Given the description of an element on the screen output the (x, y) to click on. 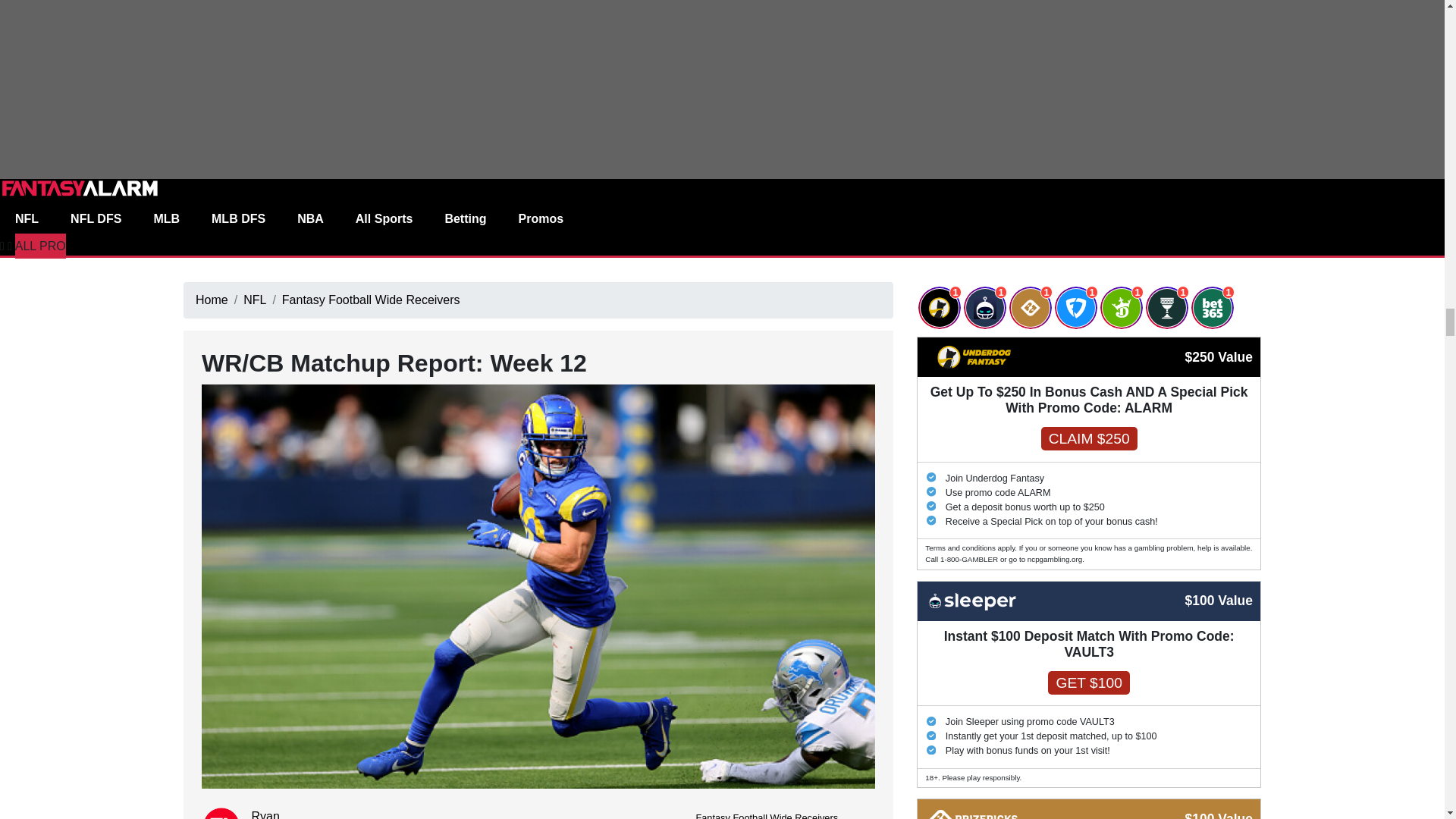
NFL DFS (96, 216)
NFL (27, 216)
